Given the description of an element on the screen output the (x, y) to click on. 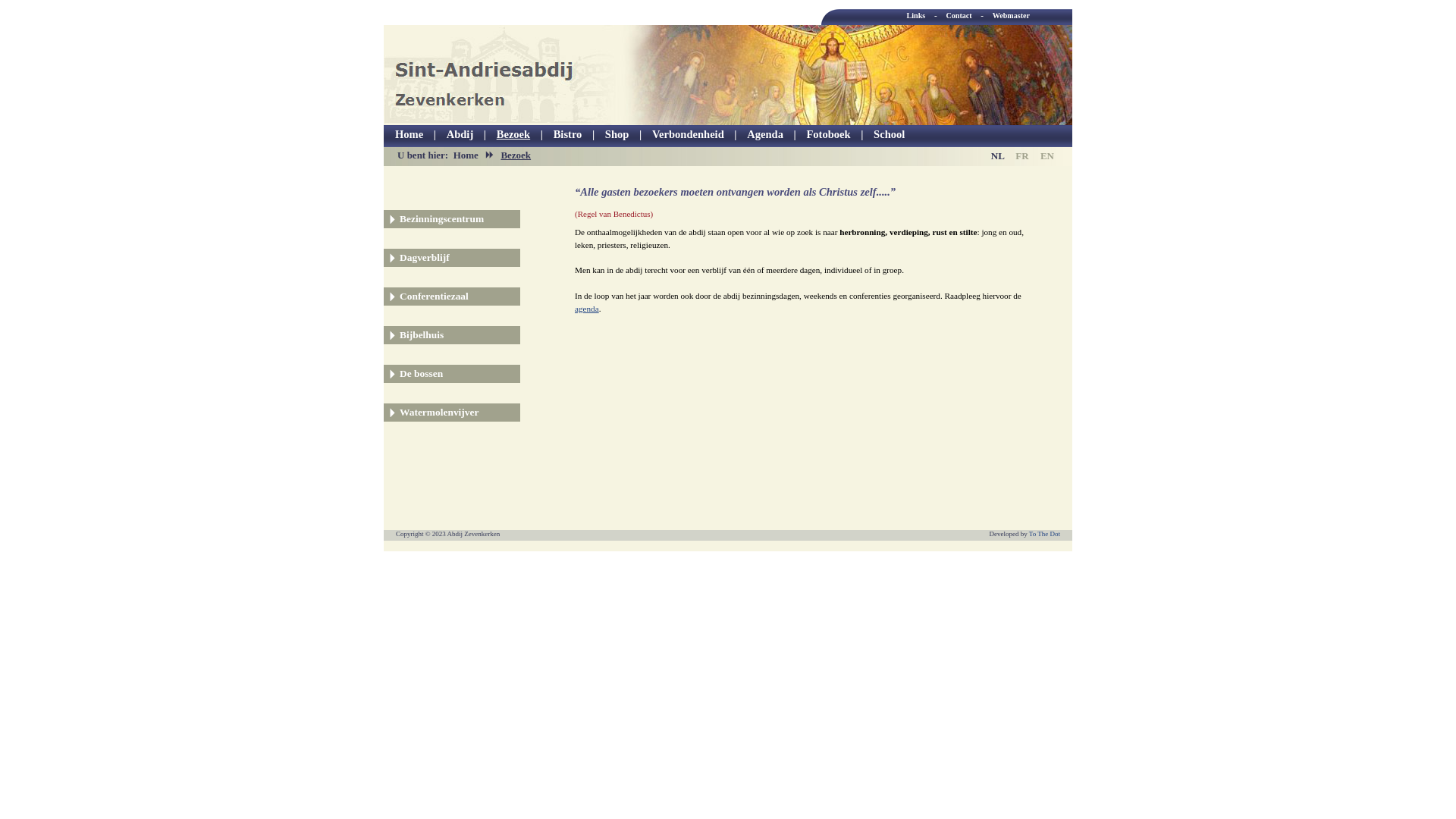
Fotoboek Element type: text (828, 134)
Agenda Element type: text (764, 134)
Bezinningscentrum Element type: text (441, 218)
Abdij Element type: text (459, 134)
De bossen Element type: text (420, 373)
Home Element type: text (409, 134)
EN Element type: text (1047, 155)
Links Element type: text (915, 15)
Dagverblijf Element type: text (424, 257)
Bijbelhuis Element type: text (421, 334)
Verbondenheid Element type: text (688, 134)
Home Element type: text (465, 154)
School Element type: text (888, 134)
Contact Element type: text (960, 15)
To The Dot Element type: text (1044, 533)
agenda Element type: text (586, 308)
NL Element type: text (997, 155)
Bezoek Element type: text (513, 134)
Conferentiezaal Element type: text (433, 295)
Watermolenvijver Element type: text (438, 411)
Bistro Element type: text (567, 134)
Shop Element type: text (617, 134)
FR Element type: text (1021, 155)
Webmaster Element type: text (1010, 15)
